Given the description of an element on the screen output the (x, y) to click on. 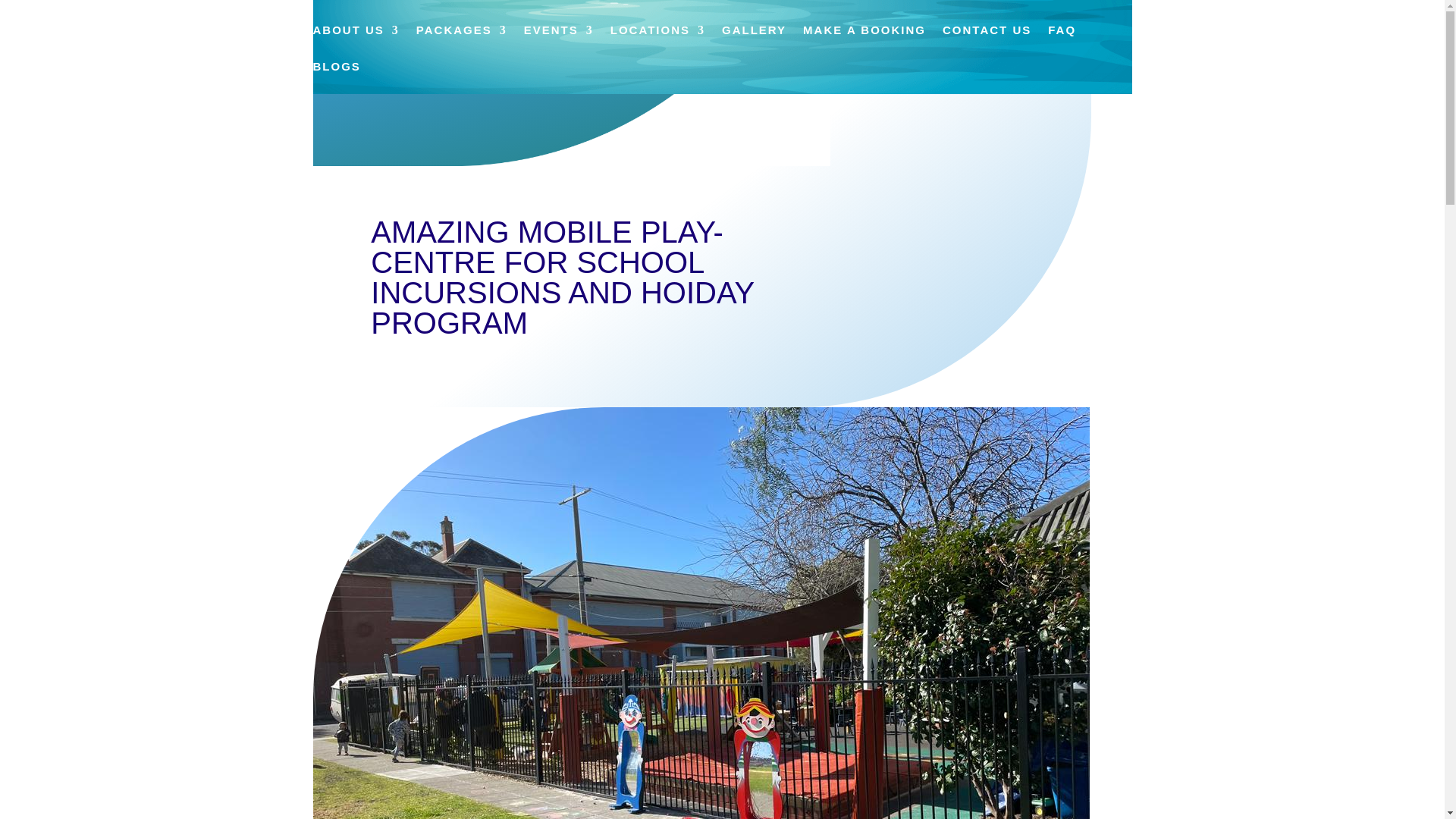
ABOUT US (355, 41)
MAKE A BOOKING (864, 41)
BLOGS (336, 77)
LOCATIONS (657, 41)
CONTACT US (986, 41)
EVENTS (559, 41)
GALLERY (754, 41)
PACKAGES (461, 41)
